Given the description of an element on the screen output the (x, y) to click on. 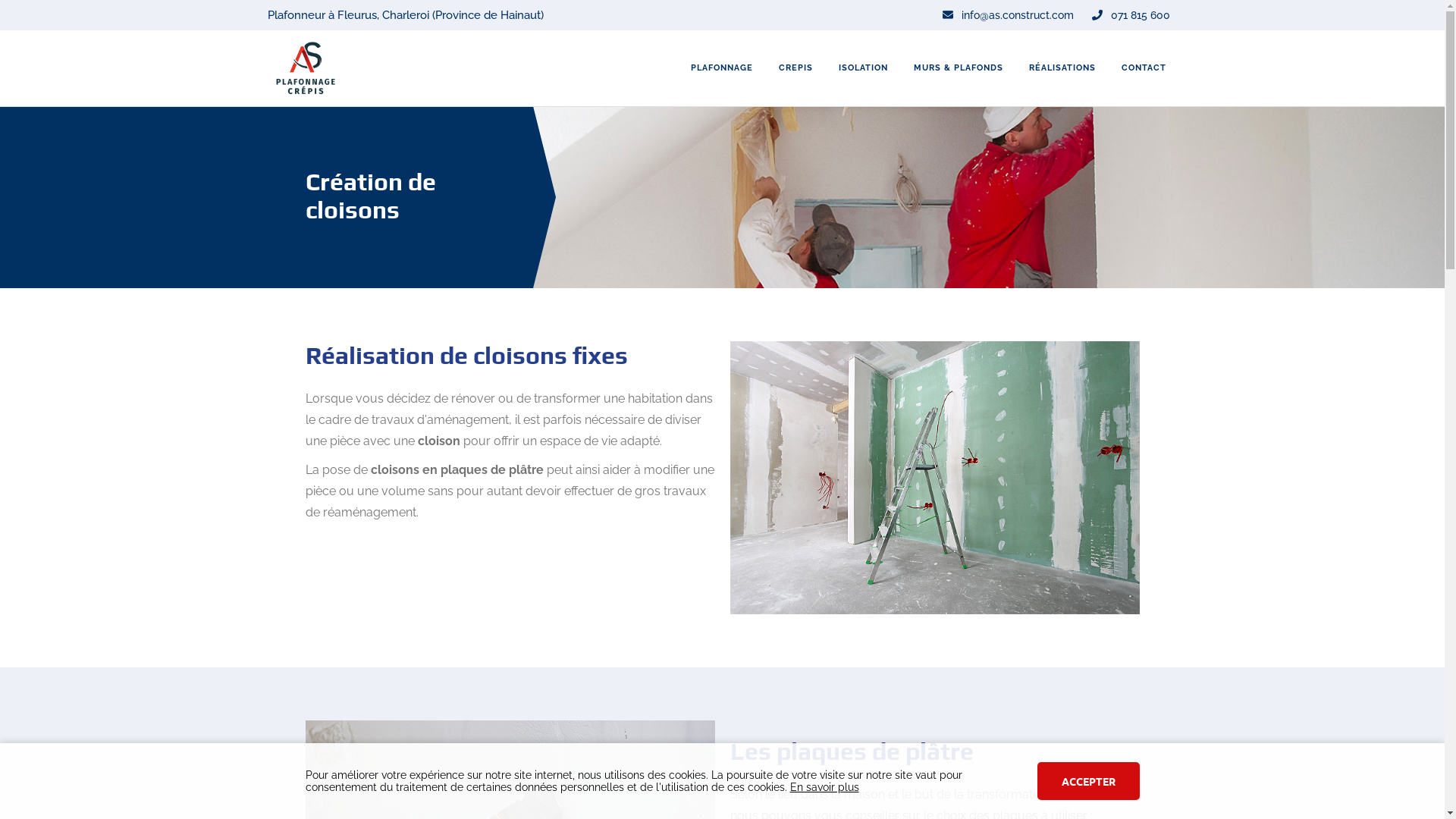
CREPIS Element type: text (795, 68)
071 815 600 Element type: text (1130, 15)
PLAFONNAGE Element type: text (721, 68)
info@as.construct.com Element type: text (1007, 15)
ACCEPTER Element type: text (1088, 781)
En savoir plus Element type: text (824, 787)
MURS & PLAFONDS Element type: text (958, 68)
CONTACT Element type: text (1143, 68)
ISOLATION Element type: text (862, 68)
